Given the description of an element on the screen output the (x, y) to click on. 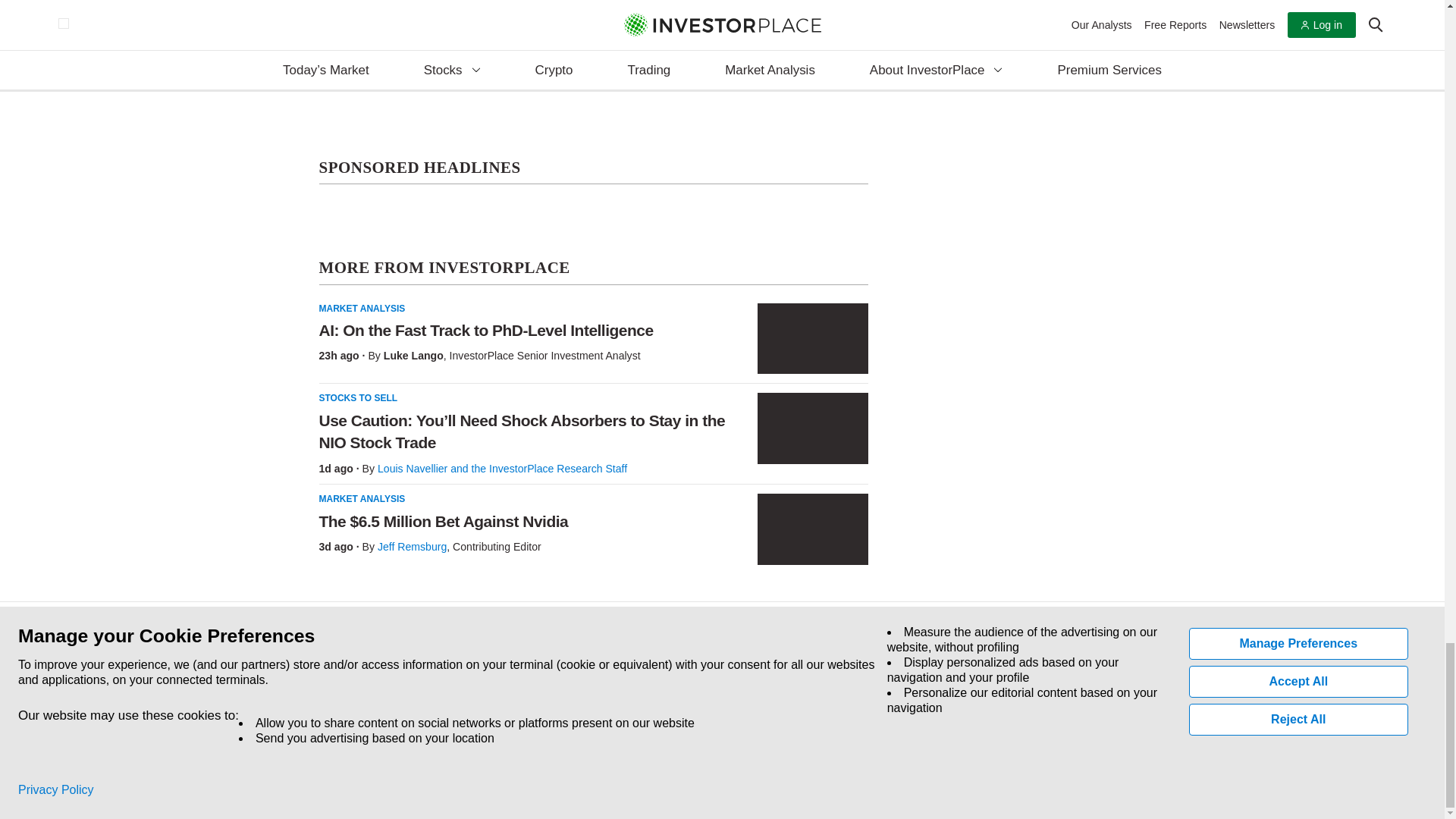
Subscribe to our RSS feed (389, 711)
Visit our Facebook Page (319, 711)
Visit our Twitter page (354, 711)
Articles from Growth Stocks stock type (363, 13)
View profile of Jeff Remsburg (411, 546)
AI: On the Fast Track to PhD-Level Intelligence (812, 338)
View profile of Luke Lango (414, 355)
